Given the description of an element on the screen output the (x, y) to click on. 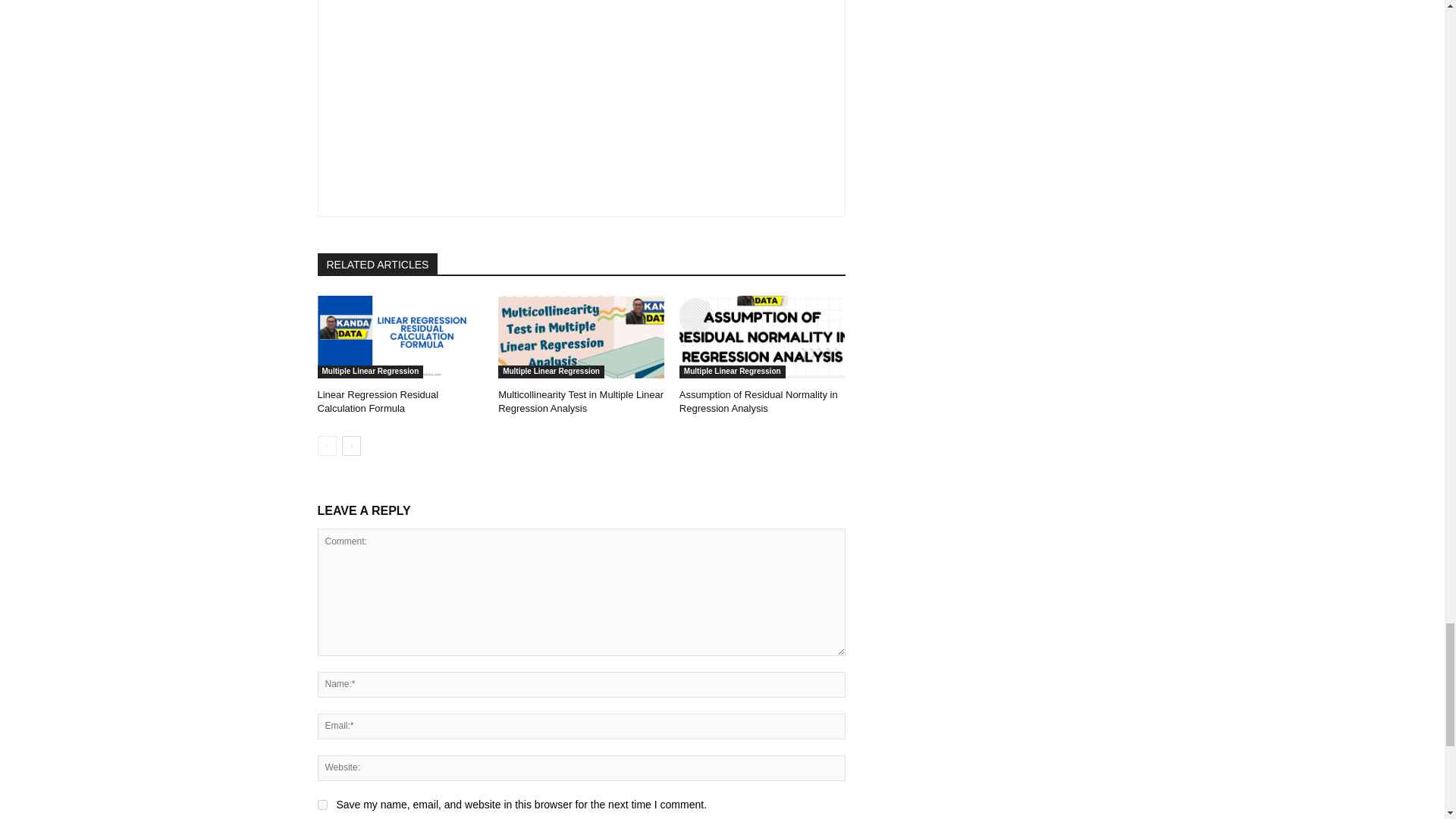
yes (321, 804)
